Given the description of an element on the screen output the (x, y) to click on. 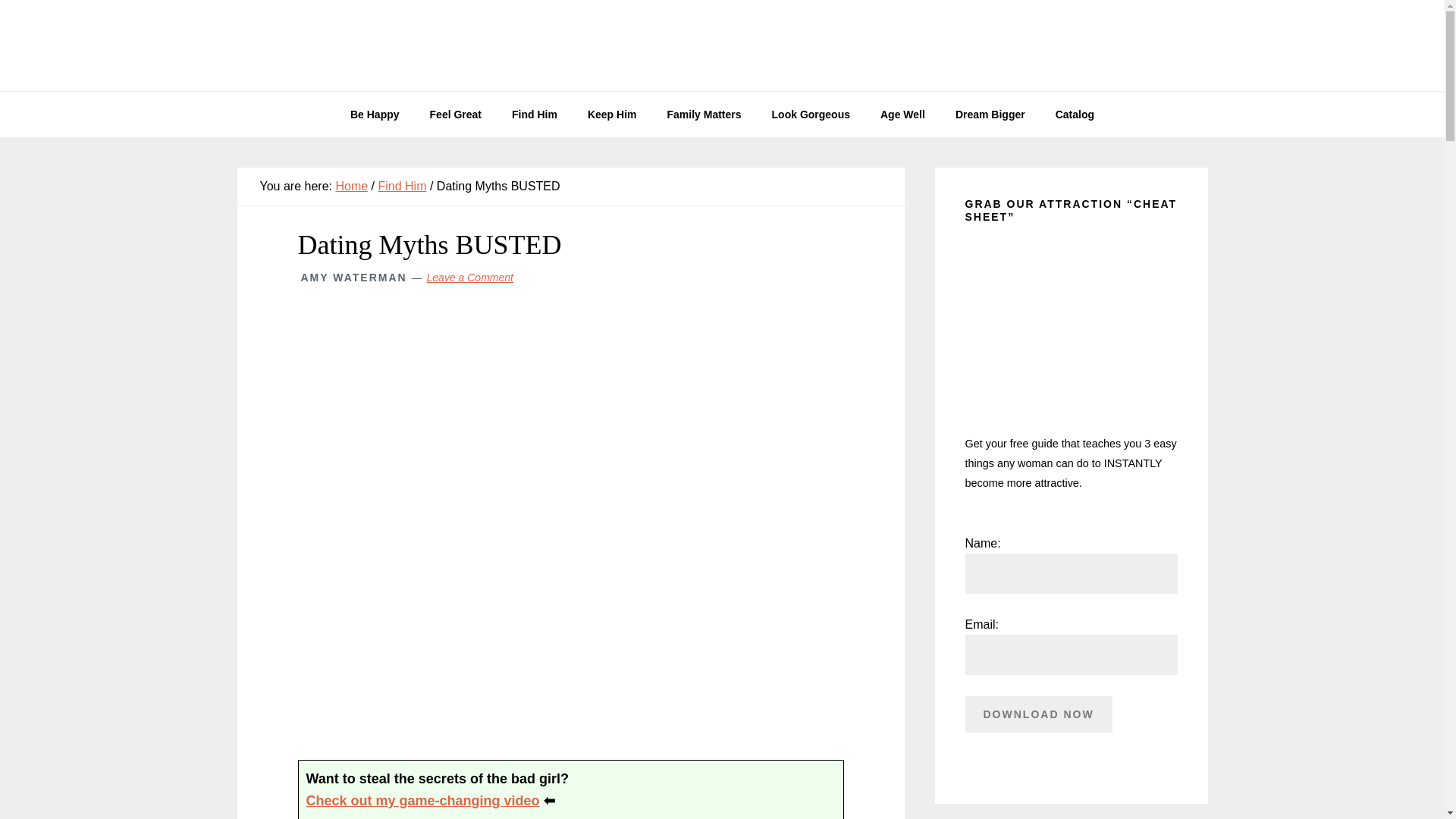
Find Him (401, 185)
Your Brilliance (721, 45)
Family Matters (704, 114)
Age Well (902, 114)
Be Happy (374, 114)
Keep Him (612, 114)
AMY WATERMAN (352, 277)
Find Him (534, 114)
Leave a Comment (469, 277)
Dream Bigger (990, 114)
Home (351, 185)
Catalog (1075, 114)
Download Now (1037, 714)
Look Gorgeous (810, 114)
